Given the description of an element on the screen output the (x, y) to click on. 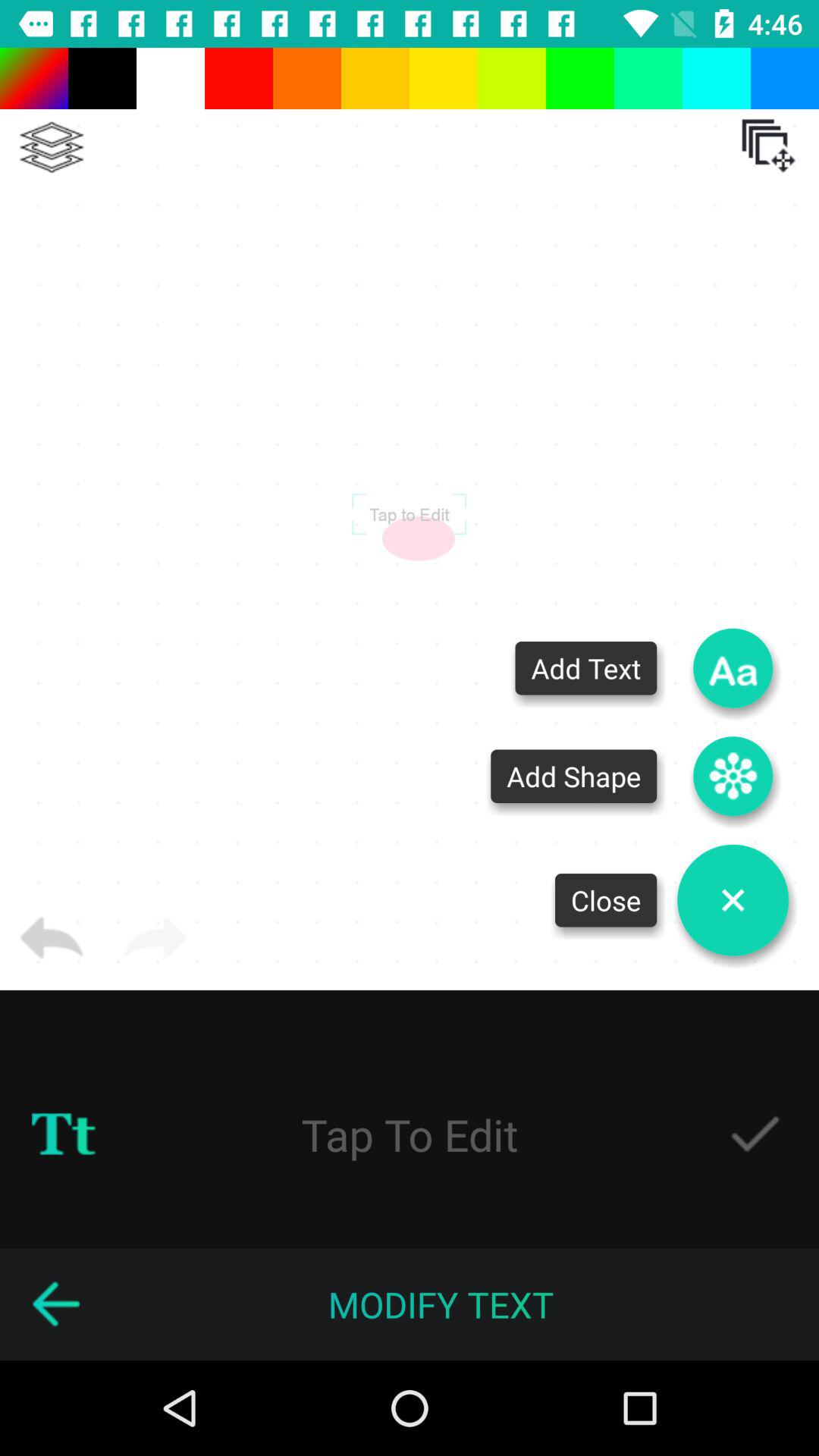
go forward (155, 938)
